Given the description of an element on the screen output the (x, y) to click on. 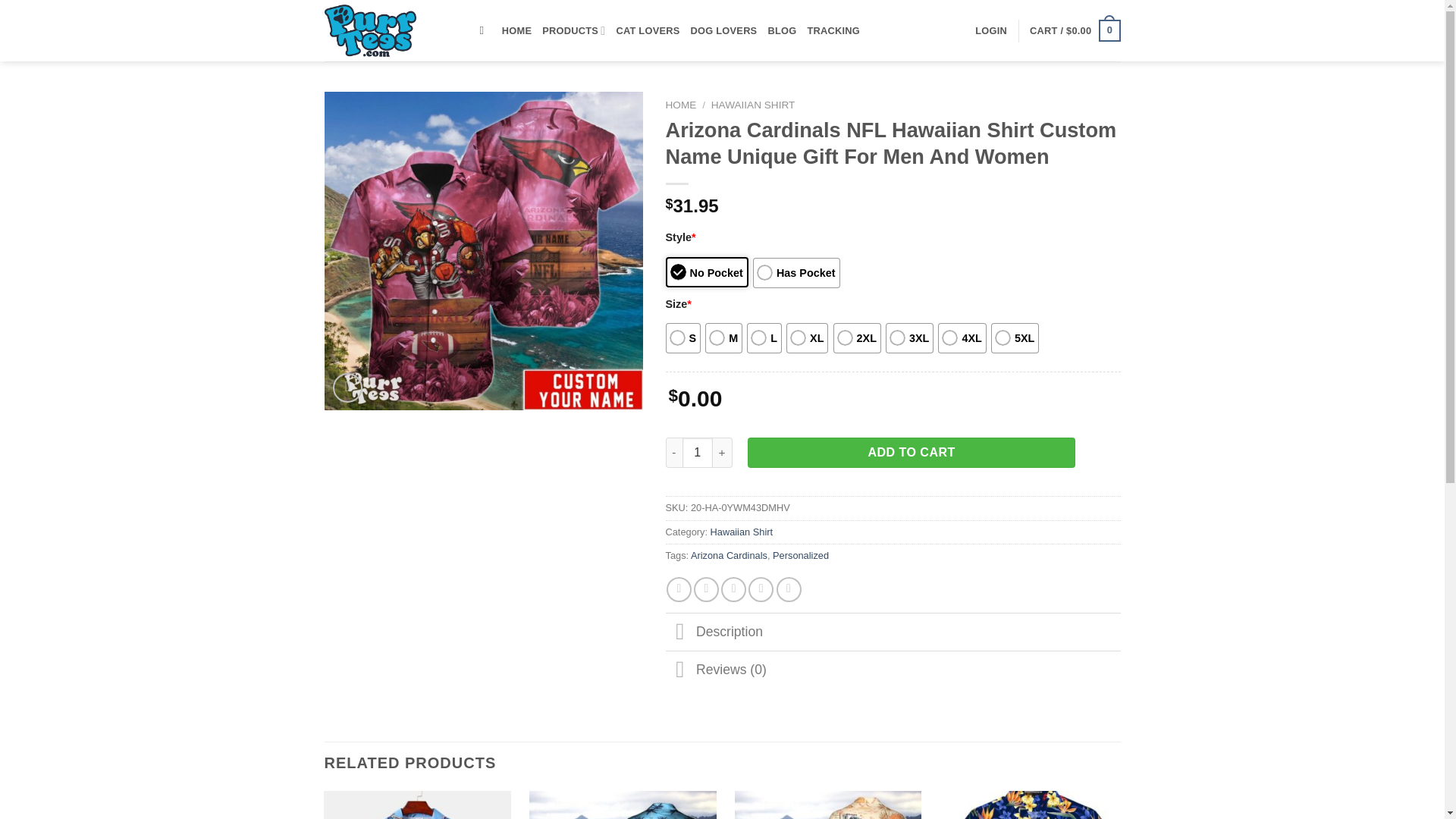
Cart (1074, 30)
L (763, 337)
S (683, 337)
Has Pocket (796, 272)
3XL (909, 337)
TRACKING (833, 30)
CAT LOVERS (647, 30)
HAWAIIAN SHIRT (752, 104)
DOG LOVERS (723, 30)
Description (893, 631)
ADD TO CART (911, 452)
No Pocket (706, 272)
Purrtees (390, 30)
PRODUCTS (573, 30)
